Given the description of an element on the screen output the (x, y) to click on. 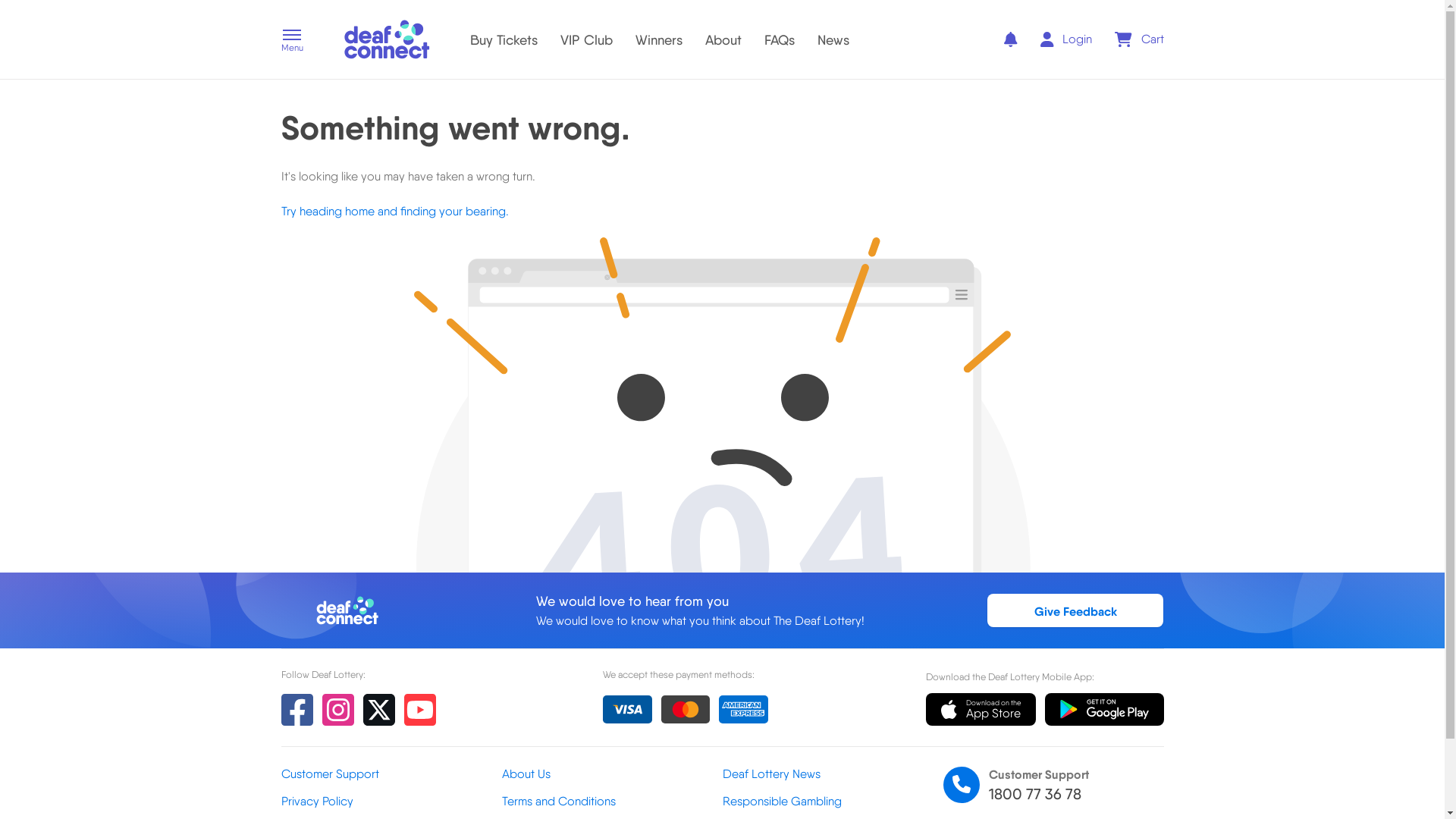
FAQs Element type: text (779, 38)
Download on the
App Store Element type: text (980, 709)
Try heading home and finding your bearing. Element type: text (394, 210)
About Us Element type: text (612, 774)
Privacy Policy Element type: text (390, 801)
Buy Tickets Element type: text (503, 38)
Responsible Gambling Element type: text (831, 801)
Deaf Lottery News Element type: text (831, 774)
Cart Element type: text (1139, 39)
Login Element type: text (1066, 39)
Winners Element type: text (658, 38)
Give Feedback Element type: text (1075, 610)
About Element type: text (723, 38)
Terms and Conditions Element type: text (612, 801)
VIP Club Element type: text (585, 38)
Customer Support Element type: text (390, 774)
News Element type: text (833, 38)
